Given the description of an element on the screen output the (x, y) to click on. 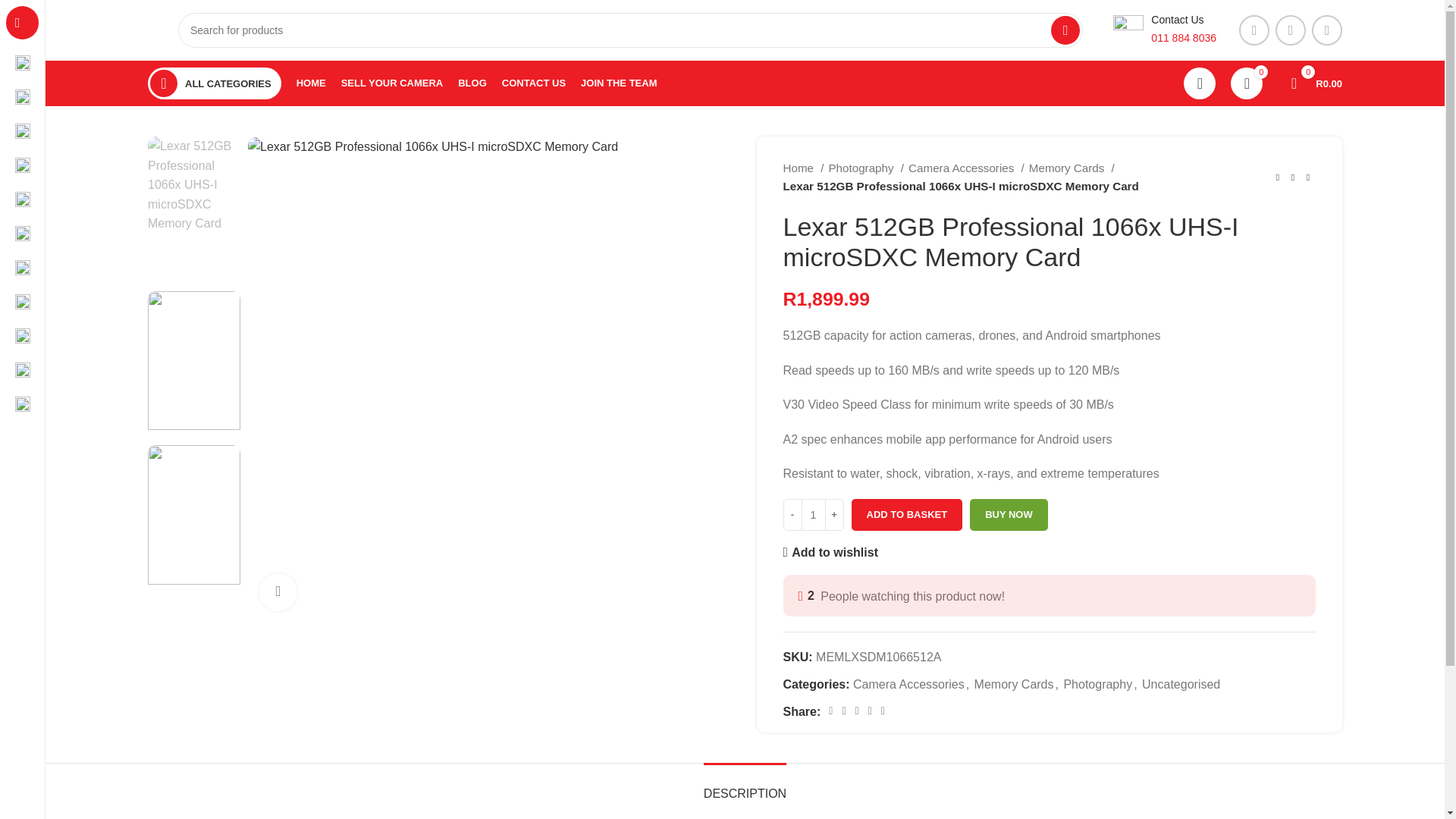
- (792, 514)
Shopping cart (1309, 82)
My Wishlist (1246, 82)
1 (813, 514)
Search for products (630, 30)
My account (1199, 82)
